Given the description of an element on the screen output the (x, y) to click on. 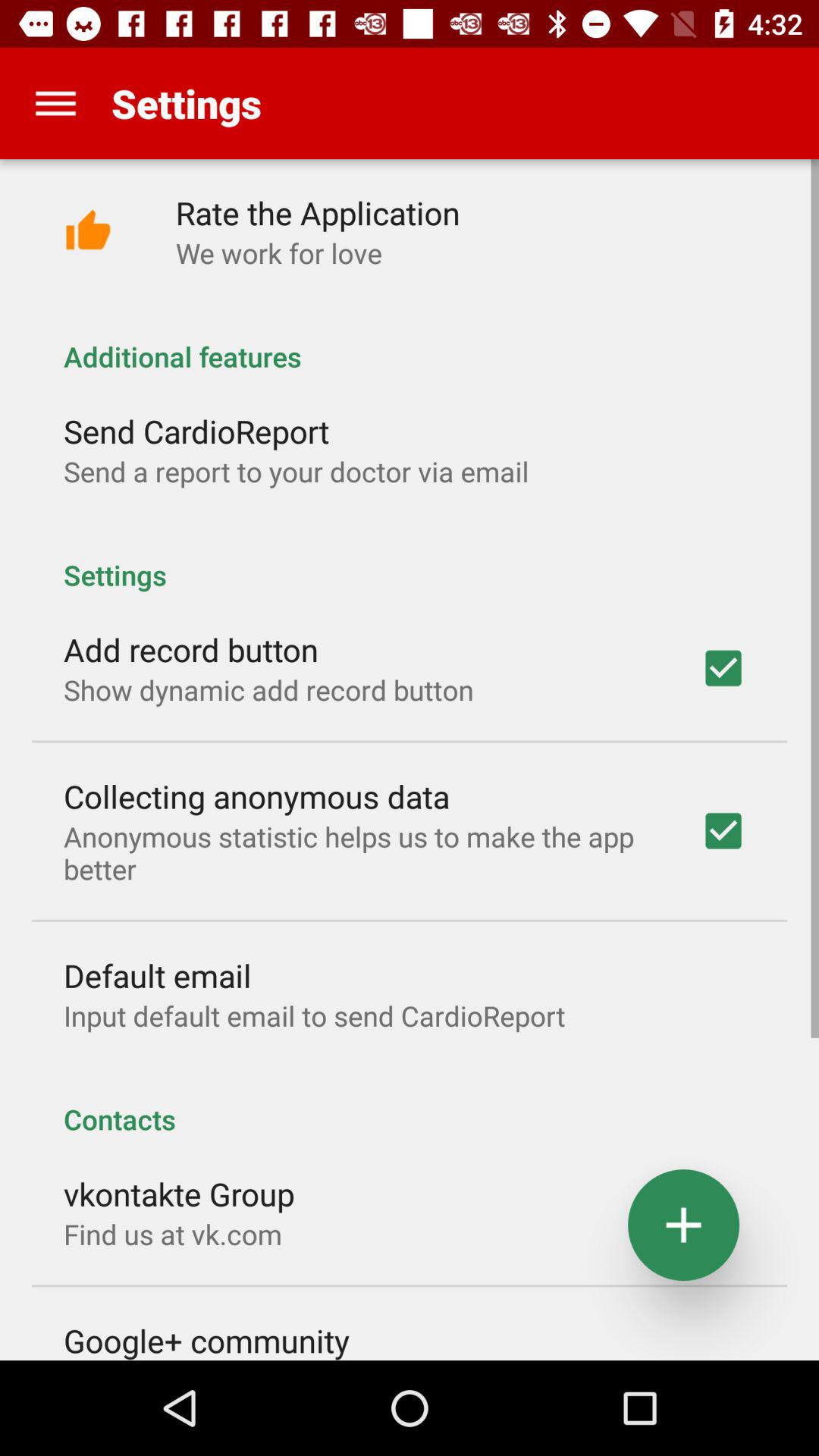
tap the item below the we work for icon (409, 340)
